Given the description of an element on the screen output the (x, y) to click on. 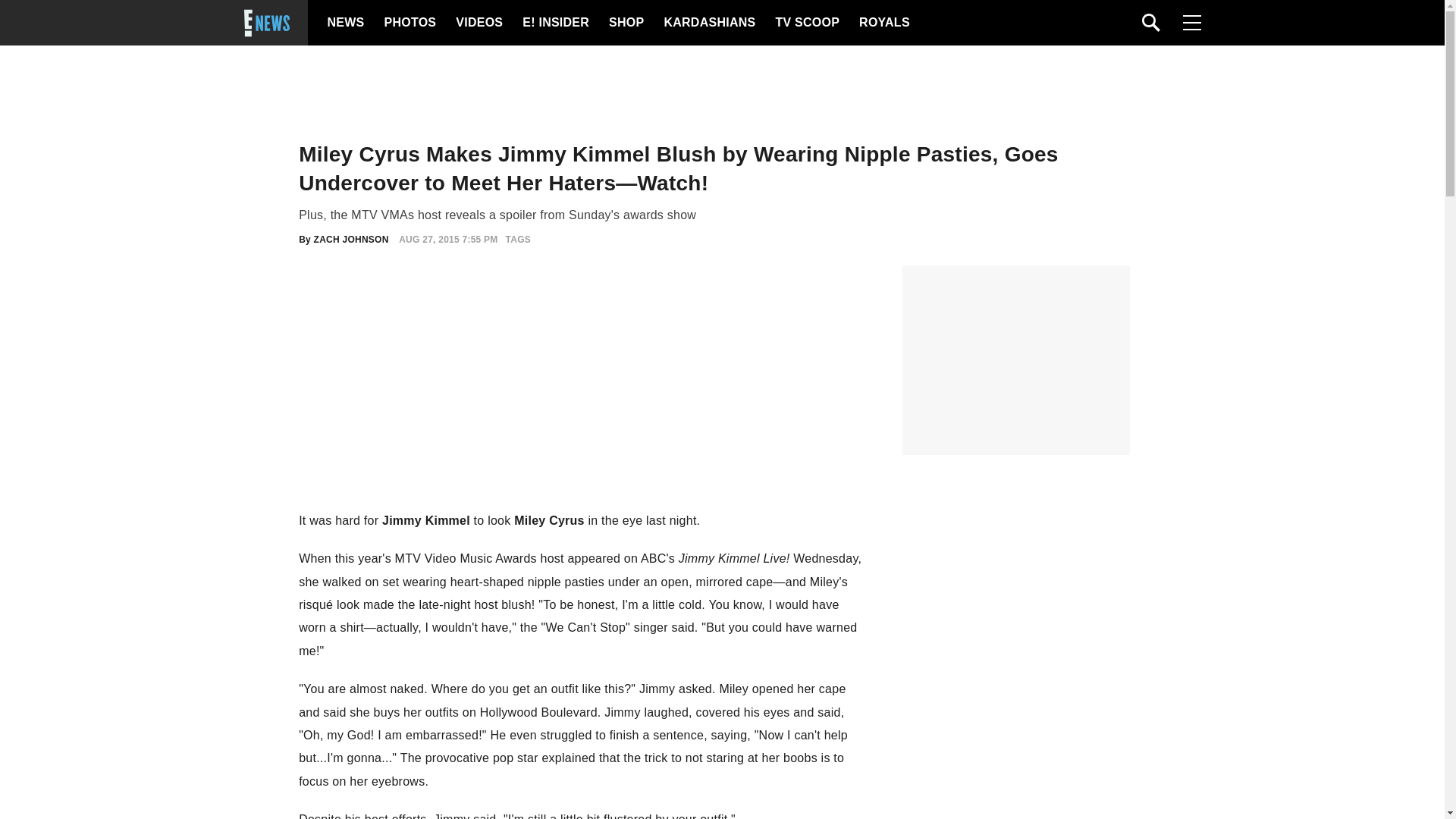
ROYALS (883, 22)
SHOP (625, 22)
NEWS (345, 22)
KARDASHIANS (708, 22)
PHOTOS (408, 22)
TV SCOOP (806, 22)
ZACH JOHNSON (351, 239)
E! INSIDER (555, 22)
VIDEOS (478, 22)
